Given the description of an element on the screen output the (x, y) to click on. 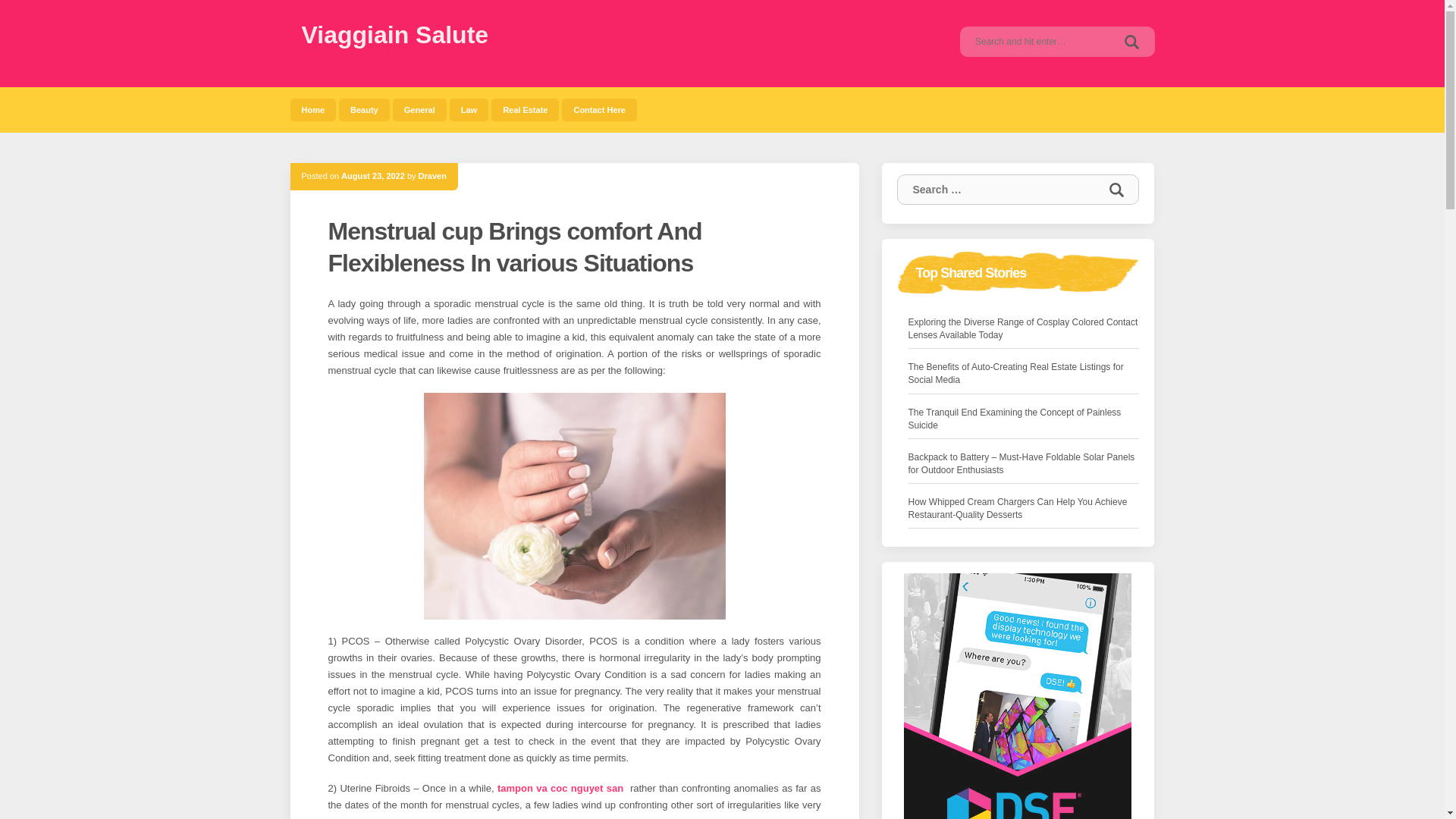
Beauty (364, 109)
Search (1115, 189)
Search (1115, 189)
Home (312, 109)
General (419, 109)
General (419, 109)
Law (468, 109)
Law (468, 109)
Real Estate (525, 109)
Contact Here (599, 109)
tampon va coc nguyet san (560, 787)
Viaggiain Salute (395, 34)
Draven (432, 175)
